Given the description of an element on the screen output the (x, y) to click on. 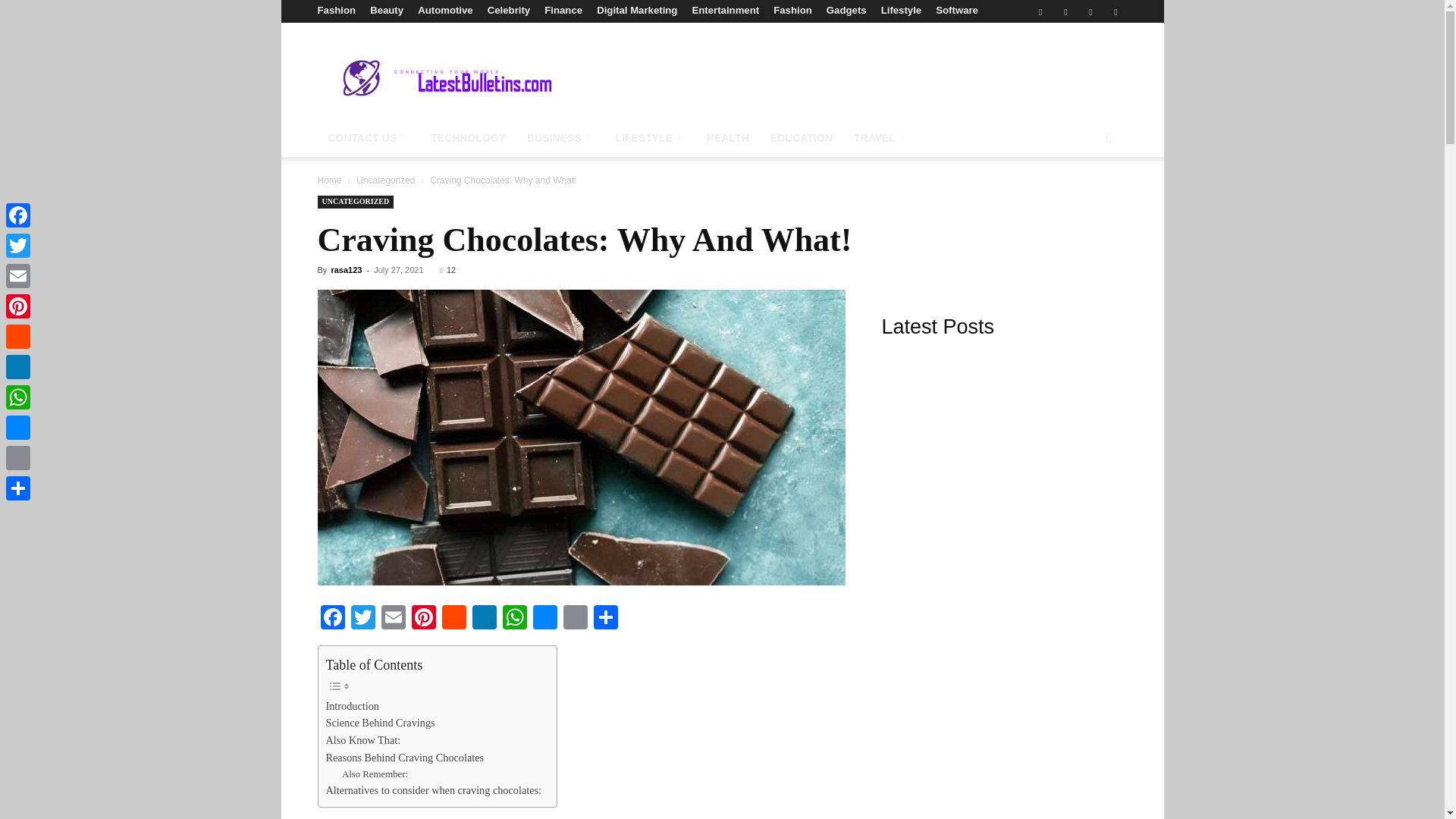
Entertainment (724, 9)
Lifestyle (900, 9)
Celebrity (508, 9)
Twitter (1065, 11)
Beauty (386, 9)
Facebook (1040, 11)
Software (957, 9)
CONTACT US (368, 137)
Youtube (1114, 11)
Finance (563, 9)
